Given the description of an element on the screen output the (x, y) to click on. 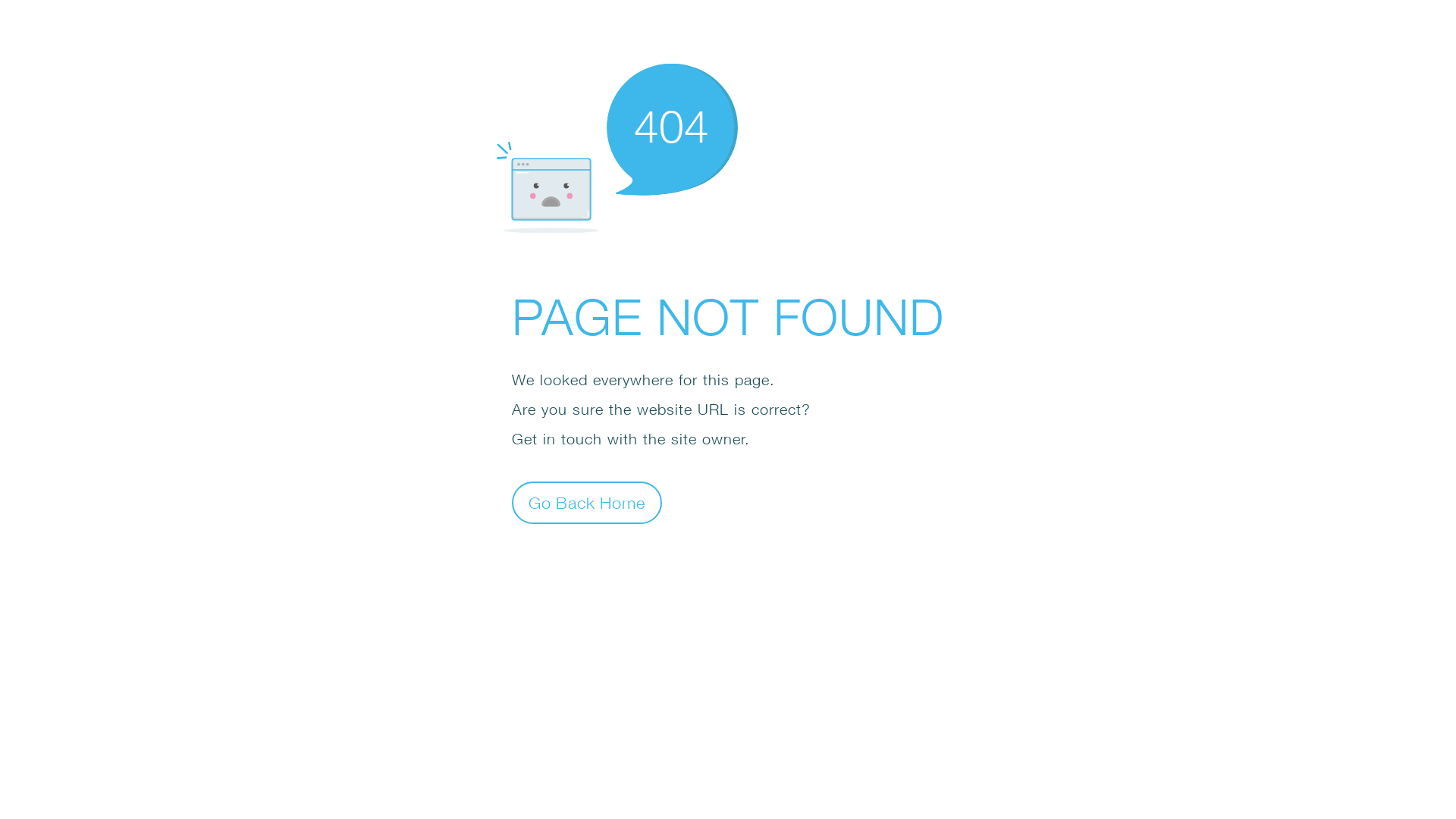
Go Back Home Element type: text (586, 502)
